Given the description of an element on the screen output the (x, y) to click on. 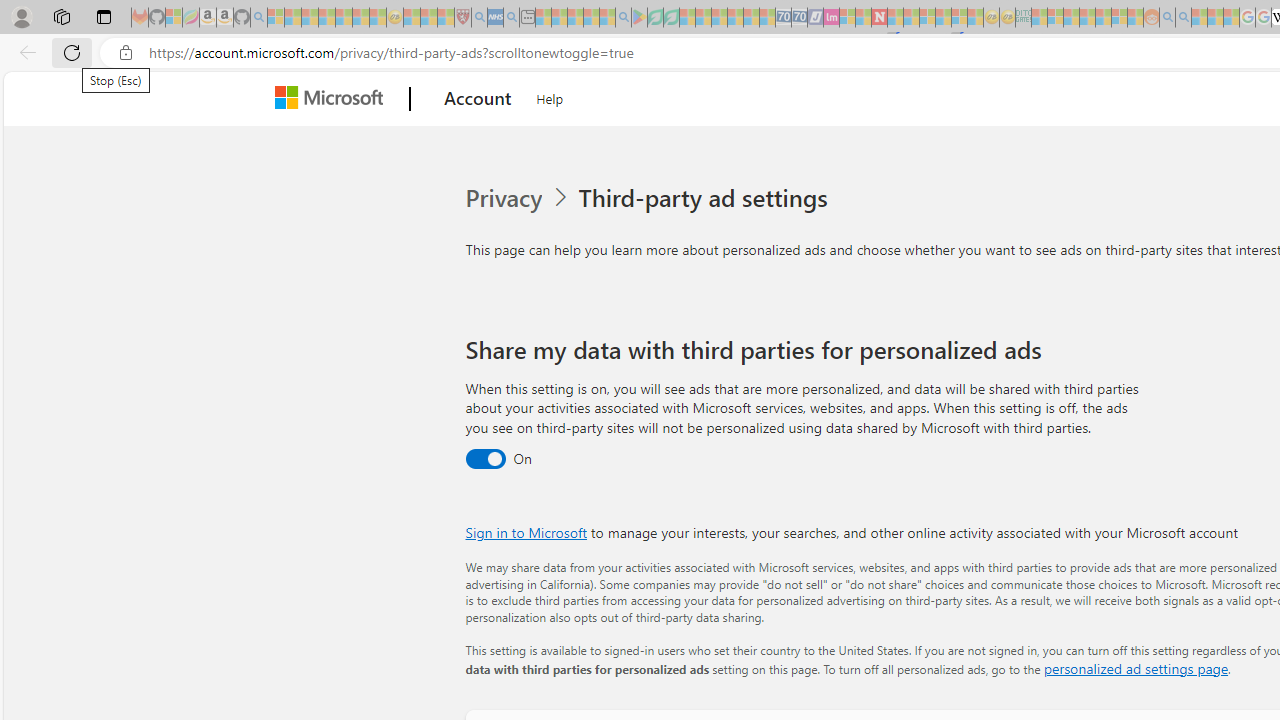
Kinda Frugal - MSN - Sleeping (1103, 17)
Expert Portfolios - Sleeping (1087, 17)
Help (550, 96)
Microsoft Start - Sleeping (1199, 17)
New Report Confirms 2023 Was Record Hot | Watch - Sleeping (343, 17)
Account (477, 99)
New tab - Sleeping (527, 17)
The Weather Channel - MSN - Sleeping (309, 17)
